Given the description of an element on the screen output the (x, y) to click on. 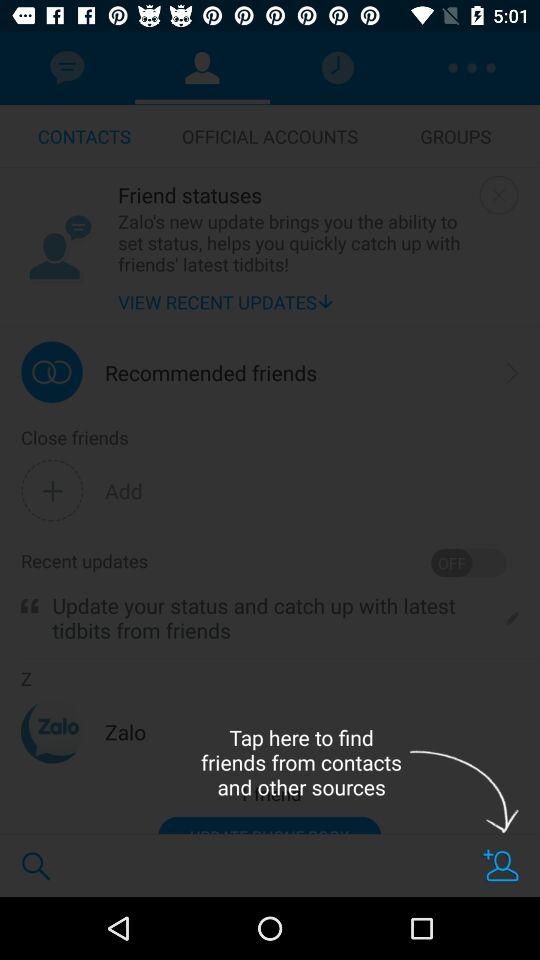
turn off the recommended friends item (211, 372)
